Given the description of an element on the screen output the (x, y) to click on. 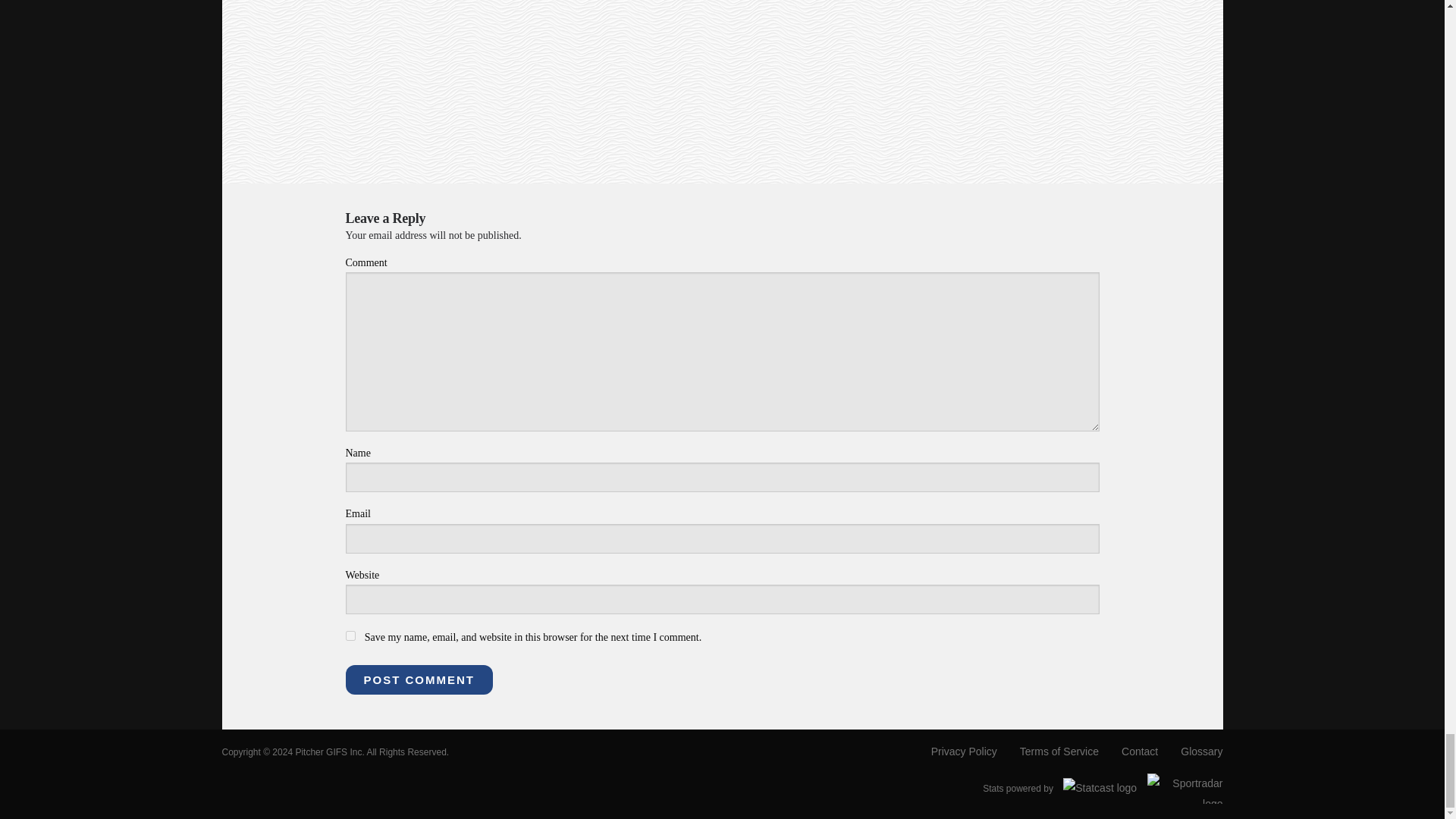
Post Comment (419, 679)
yes (350, 635)
